Given the description of an element on the screen output the (x, y) to click on. 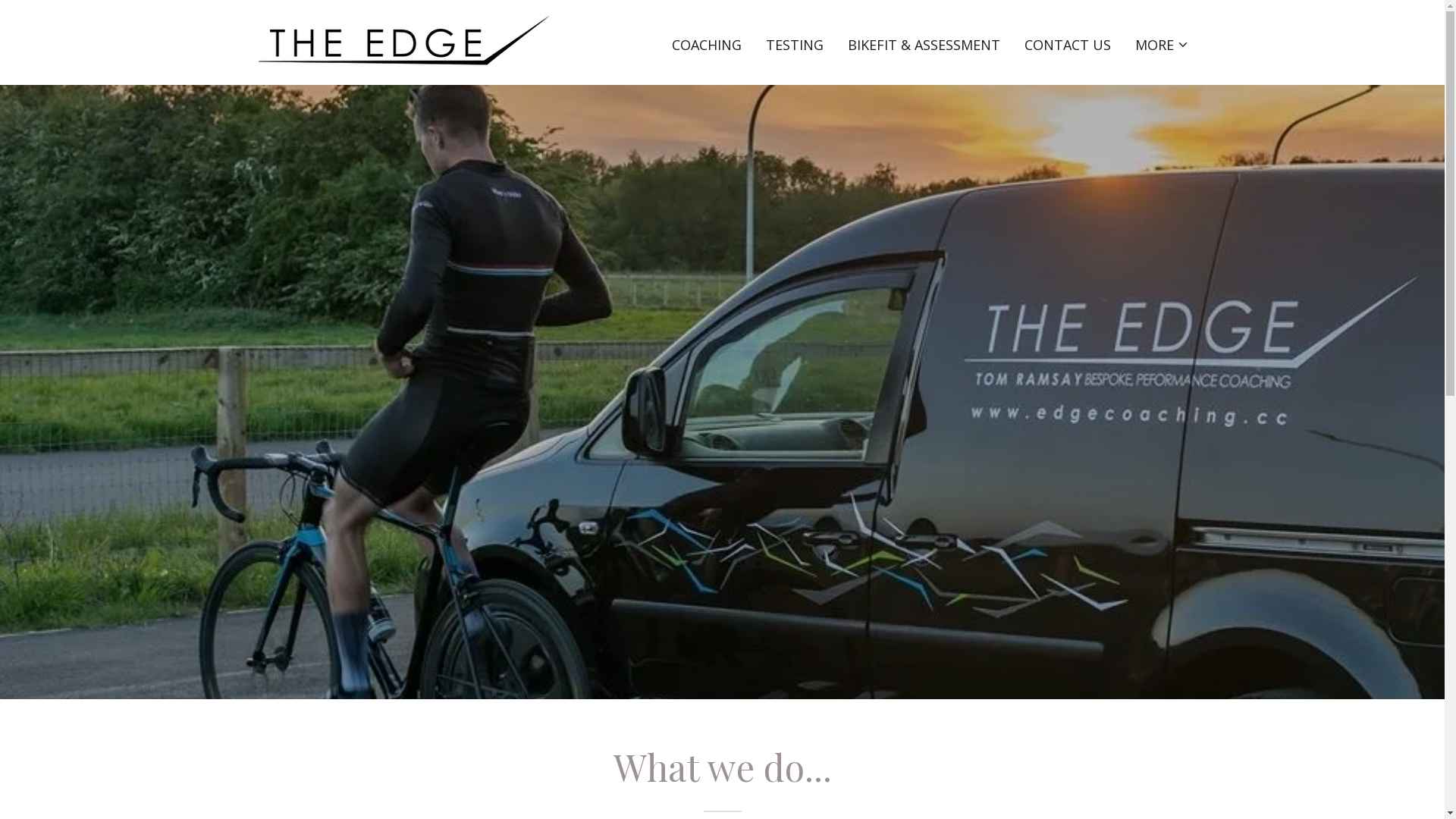
TESTING Element type: text (794, 43)
COACHING Element type: text (706, 43)
CONTACT US Element type: text (1067, 43)
MORE Element type: text (1162, 43)
BIKEFIT & ASSESSMENT Element type: text (923, 43)
